Given the description of an element on the screen output the (x, y) to click on. 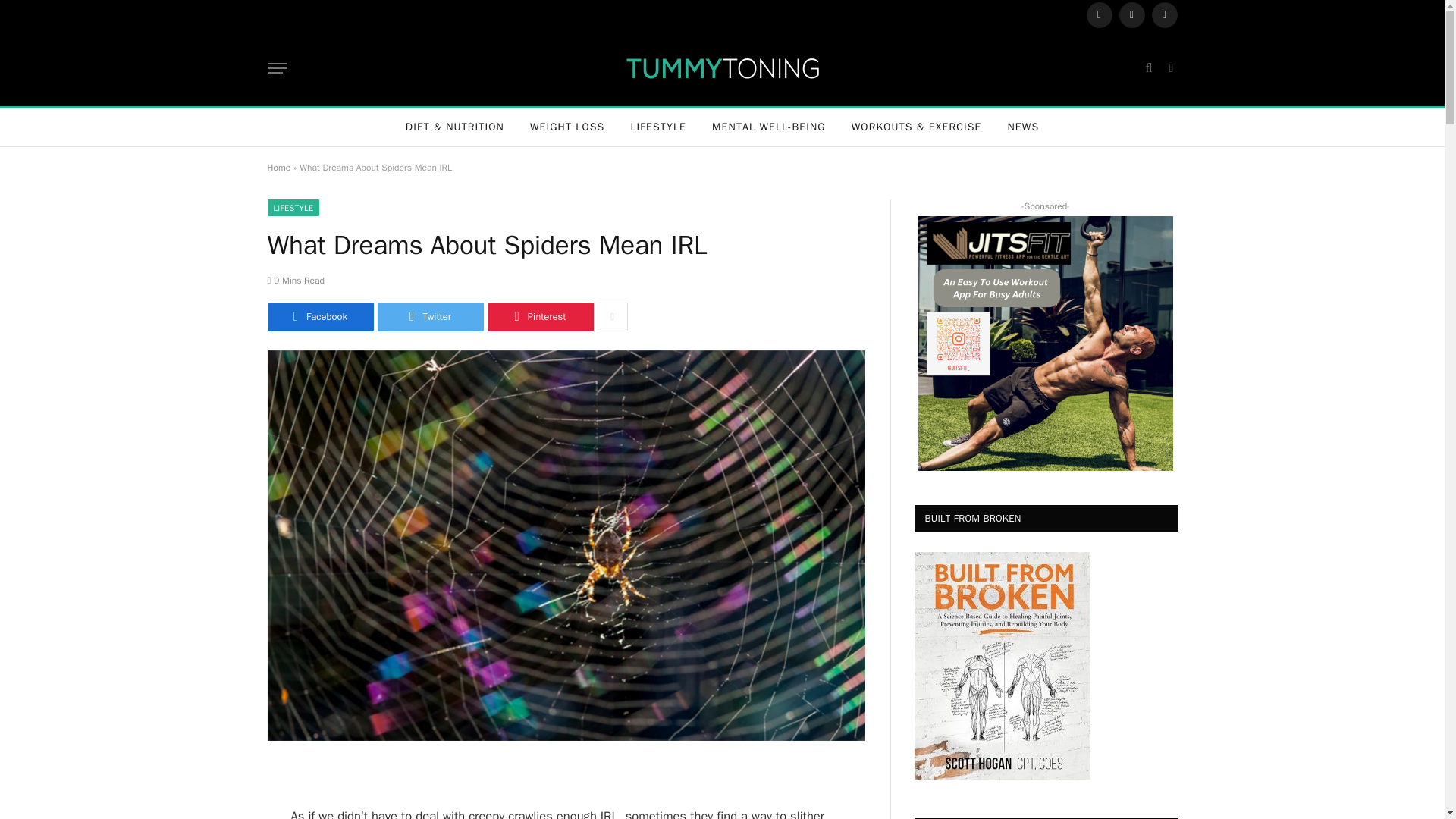
TummyToningTips.com (722, 67)
NEWS (1023, 127)
Twitter (430, 316)
Pinterest (539, 316)
WEIGHT LOSS (566, 127)
Share on Facebook (319, 316)
Facebook (1099, 14)
Switch to Dark Design - easier on eyes. (1168, 68)
LIFESTYLE (292, 207)
LIFESTYLE (657, 127)
